Given the description of an element on the screen output the (x, y) to click on. 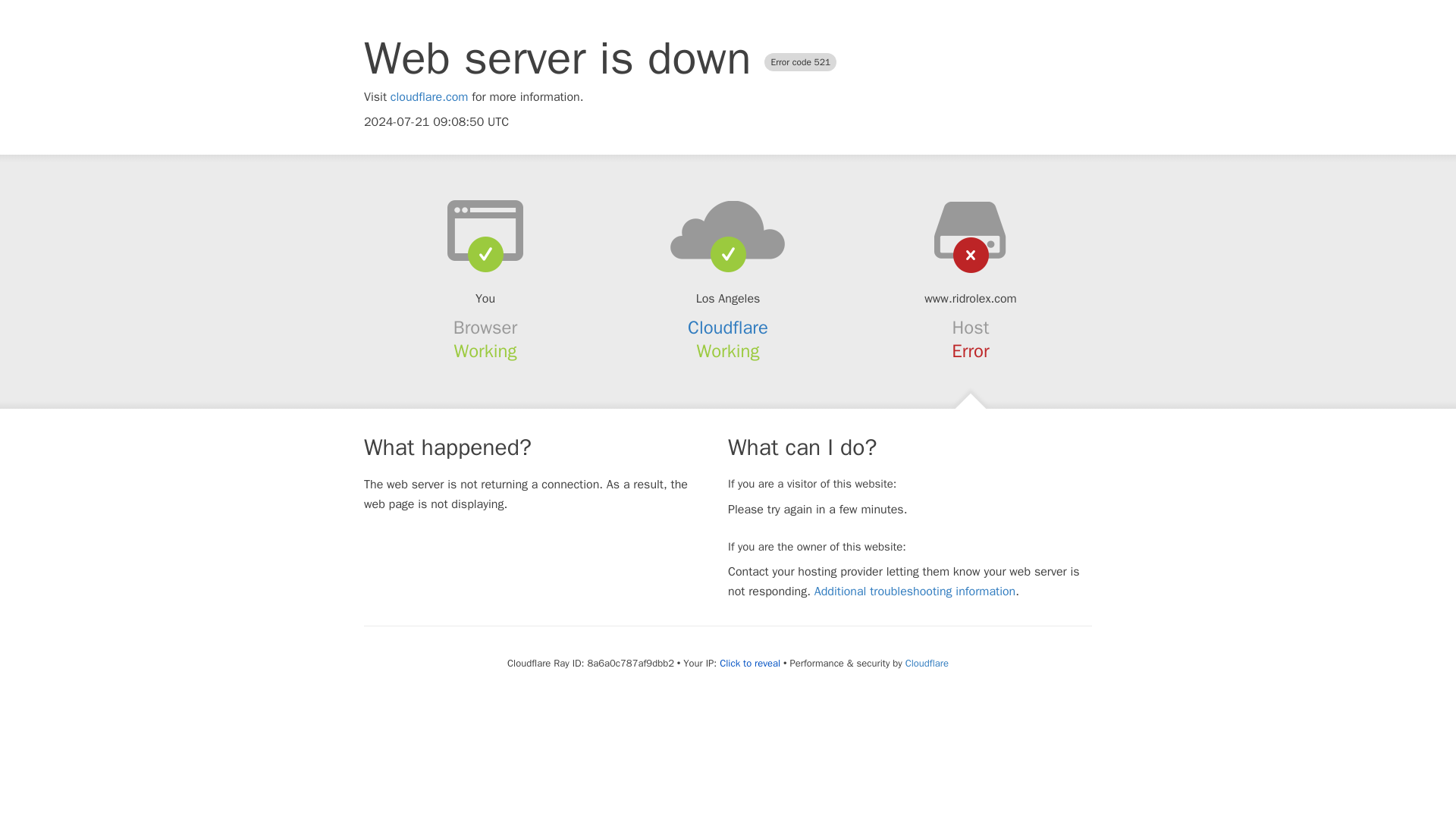
Click to reveal (749, 663)
Cloudflare (727, 327)
cloudflare.com (429, 96)
Cloudflare (927, 662)
Additional troubleshooting information (913, 590)
